Given the description of an element on the screen output the (x, y) to click on. 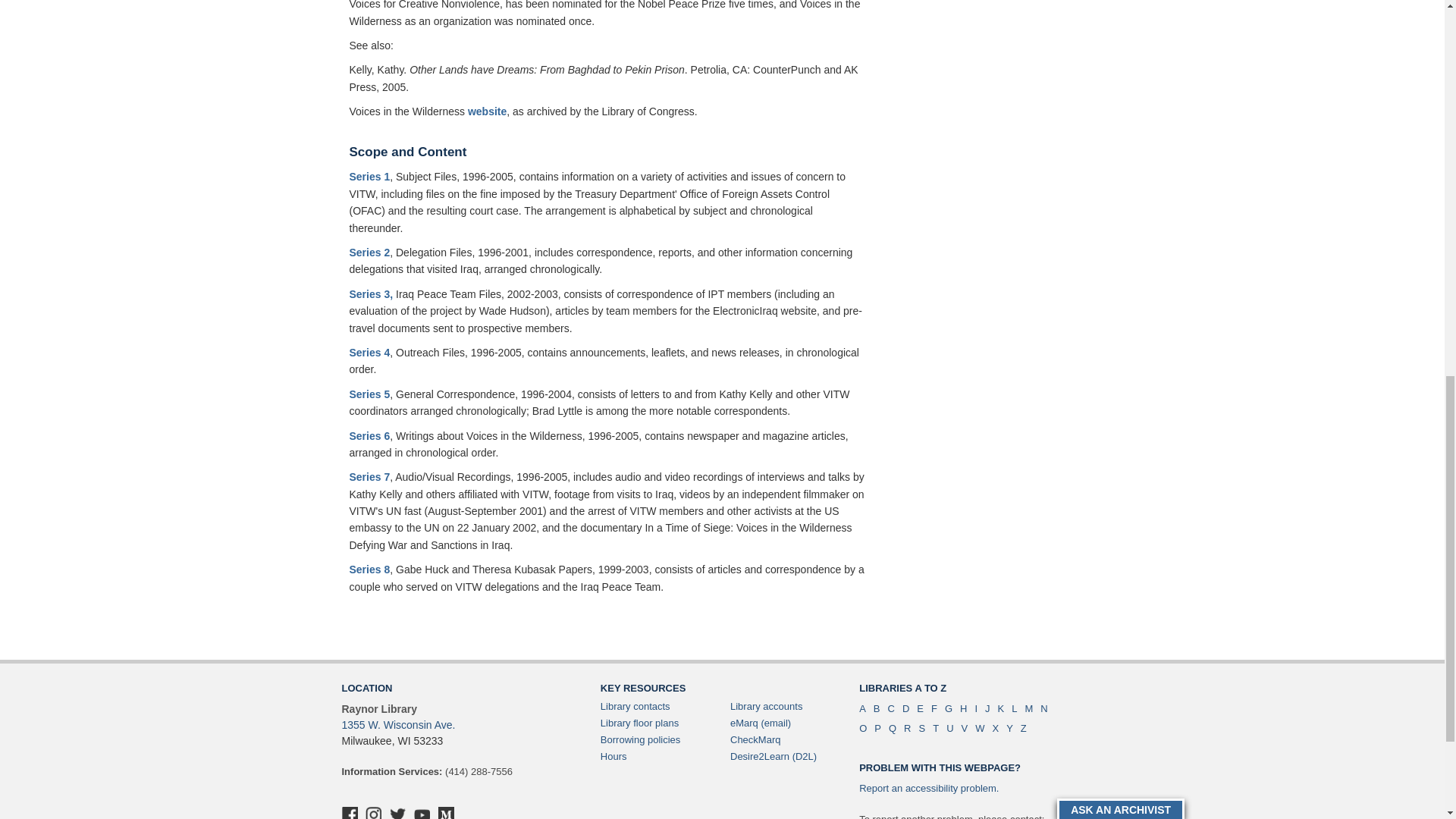
View the hours for Raynor Library (613, 756)
Series 8 (369, 569)
Series 7 (369, 476)
Series 5 (369, 394)
website (486, 111)
Series 6 (369, 435)
Series 2 (369, 252)
Series 1 (369, 176)
Series 4 (369, 352)
1355 W. Wisconsin Ave. (397, 725)
